Given the description of an element on the screen output the (x, y) to click on. 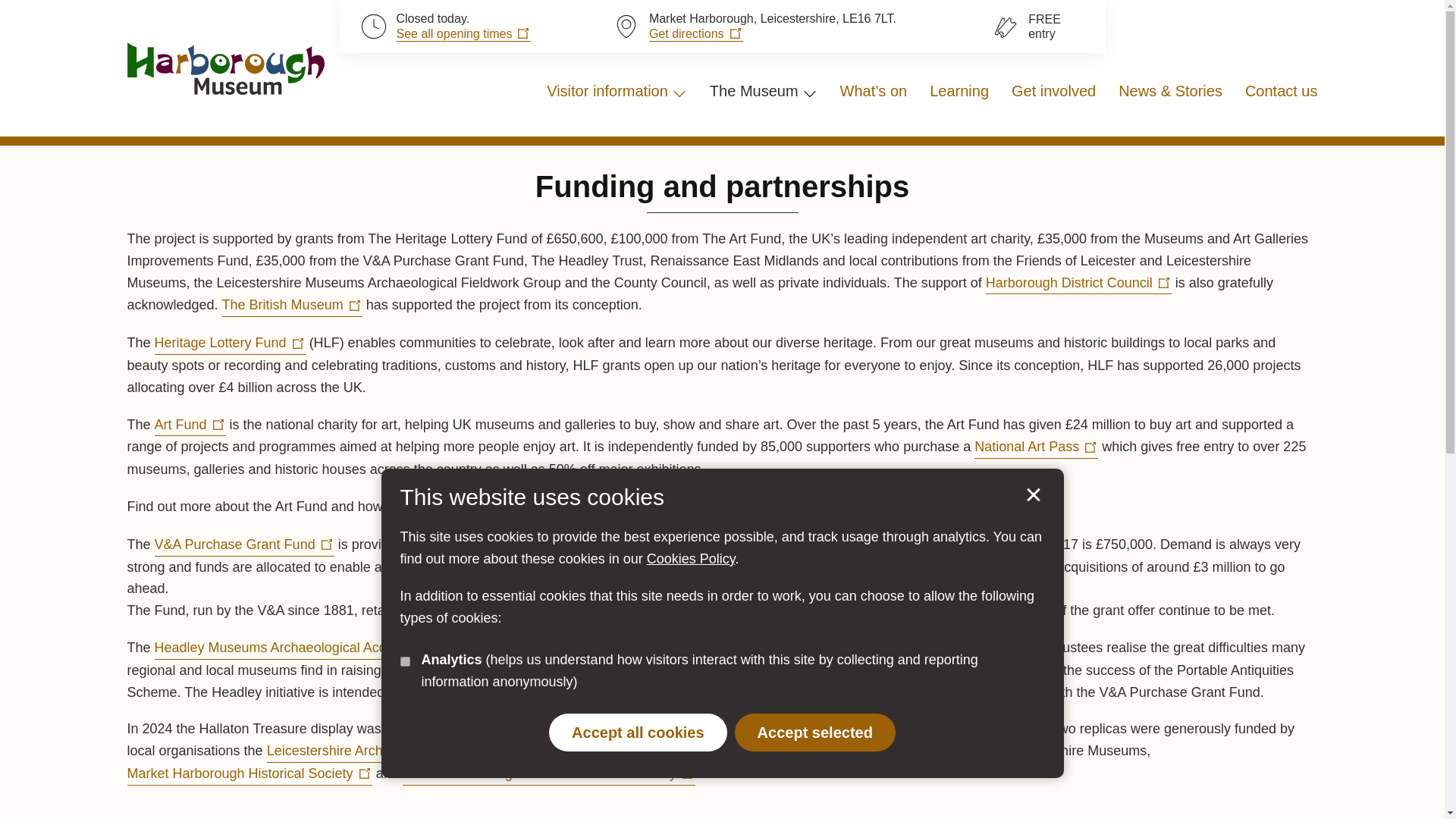
Contact us (1280, 90)
Art Fund (189, 425)
National Art Pass (1035, 446)
Harborough District Council (1078, 282)
Cookies Policy (690, 558)
The British Museum (292, 305)
Heritage Lottery Fund (229, 343)
Accept all cookies (637, 732)
Accept selected (815, 732)
The Museum (763, 90)
